Given the description of an element on the screen output the (x, y) to click on. 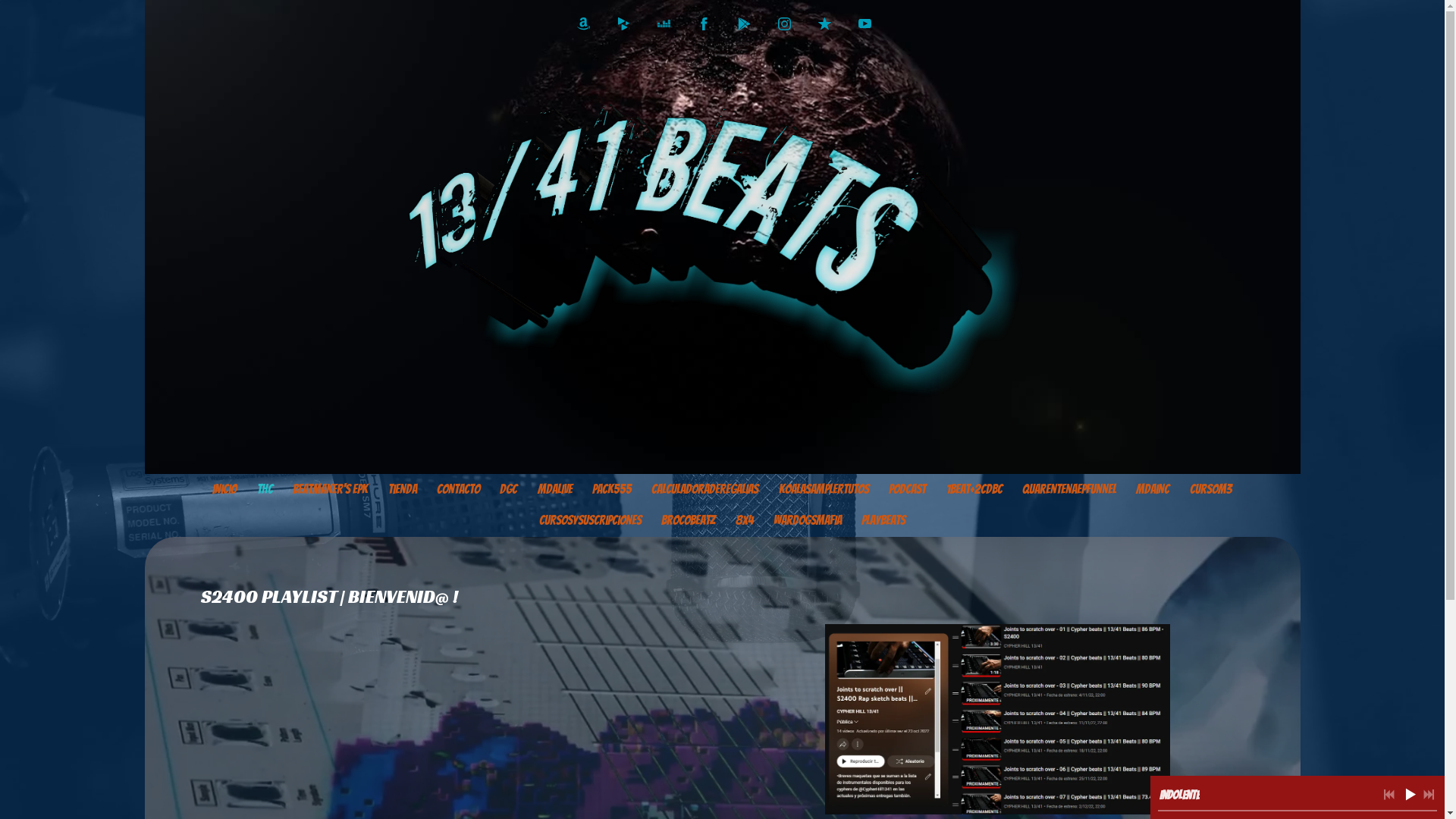
https://www.facebook.com/Kabster1341 Element type: hover (703, 23)
Contacto Element type: text (457, 489)
https://store.cdbaby.com/cd/kabster Element type: hover (623, 23)
https://www.youtube.com/Kabster1341 Element type: hover (864, 23)
https://itunes.apple.com/us/album/3-zkillzz/1135533616 Element type: hover (823, 23)
Reproducir Element type: hover (1409, 793)
http://www.deezer.com/es/album/12761988 Element type: hover (662, 23)
http://instagram.com/kabstermda Element type: hover (784, 23)
MDAinc Element type: text (1152, 489)
DGC Element type: text (508, 489)
PODCAST Element type: text (906, 489)
Tienda Element type: text (401, 489)
PACK555 Element type: text (611, 489)
8X4 Element type: text (743, 520)
Cursosysuscripciones Element type: text (590, 520)
PlayBeats Element type: text (883, 520)
1Beat+2CDBC Element type: text (973, 489)
thc Element type: text (264, 489)
Beatmaker's EPK Element type: text (329, 489)
WarDogsMafia Element type: text (807, 520)
Inicio Element type: text (224, 489)
BrocoBeatz Element type: text (687, 520)
CursoM3 Element type: text (1210, 489)
QuarentenaEPfunnel Element type: text (1069, 489)
MDALIVE Element type: text (554, 489)
calculadoraderegalias Element type: text (704, 489)
KoalaSamplerTutos Element type: text (823, 489)
